Given the description of an element on the screen output the (x, y) to click on. 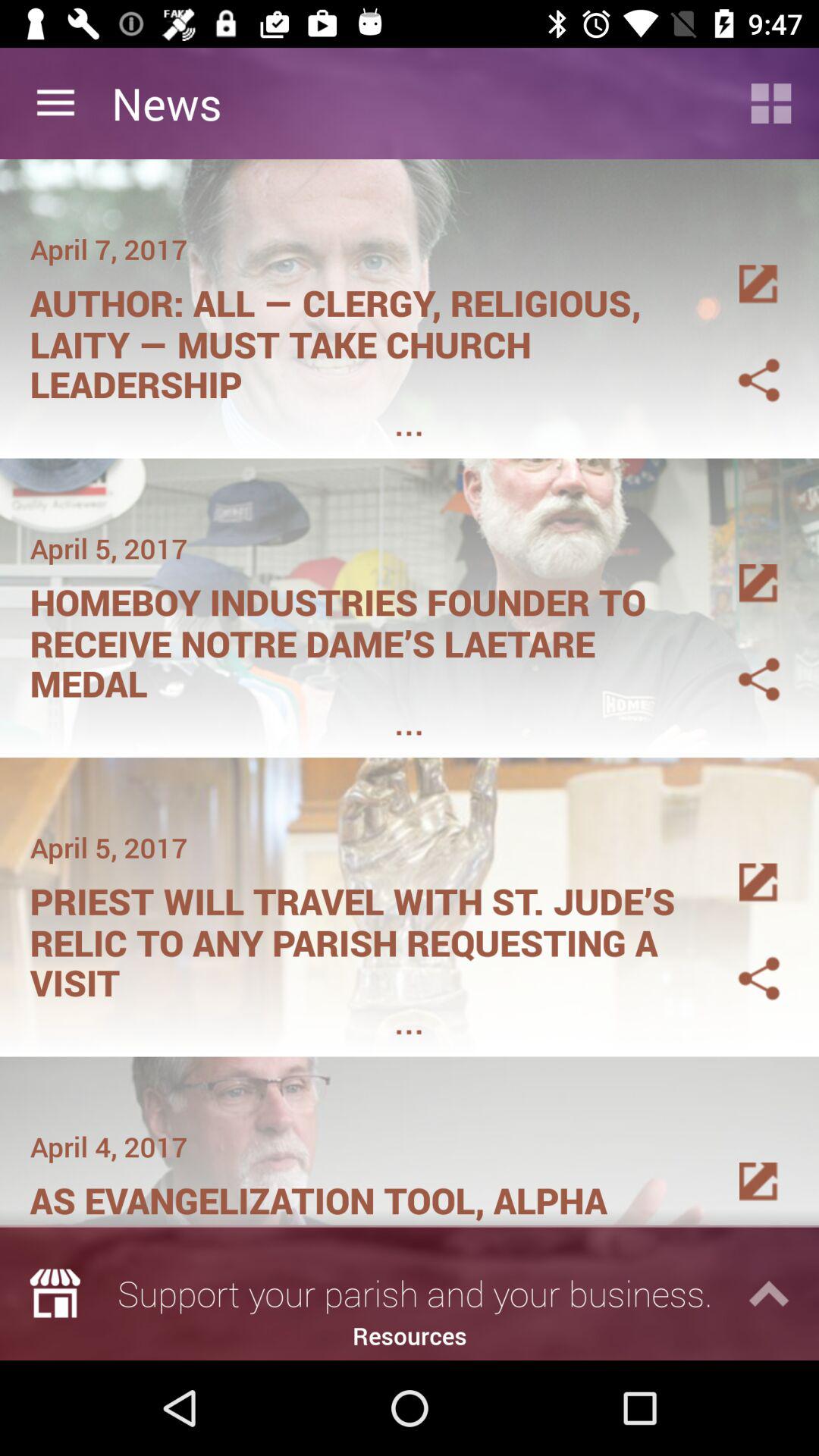
tap the item below april 5, 2017 icon (361, 638)
